Given the description of an element on the screen output the (x, y) to click on. 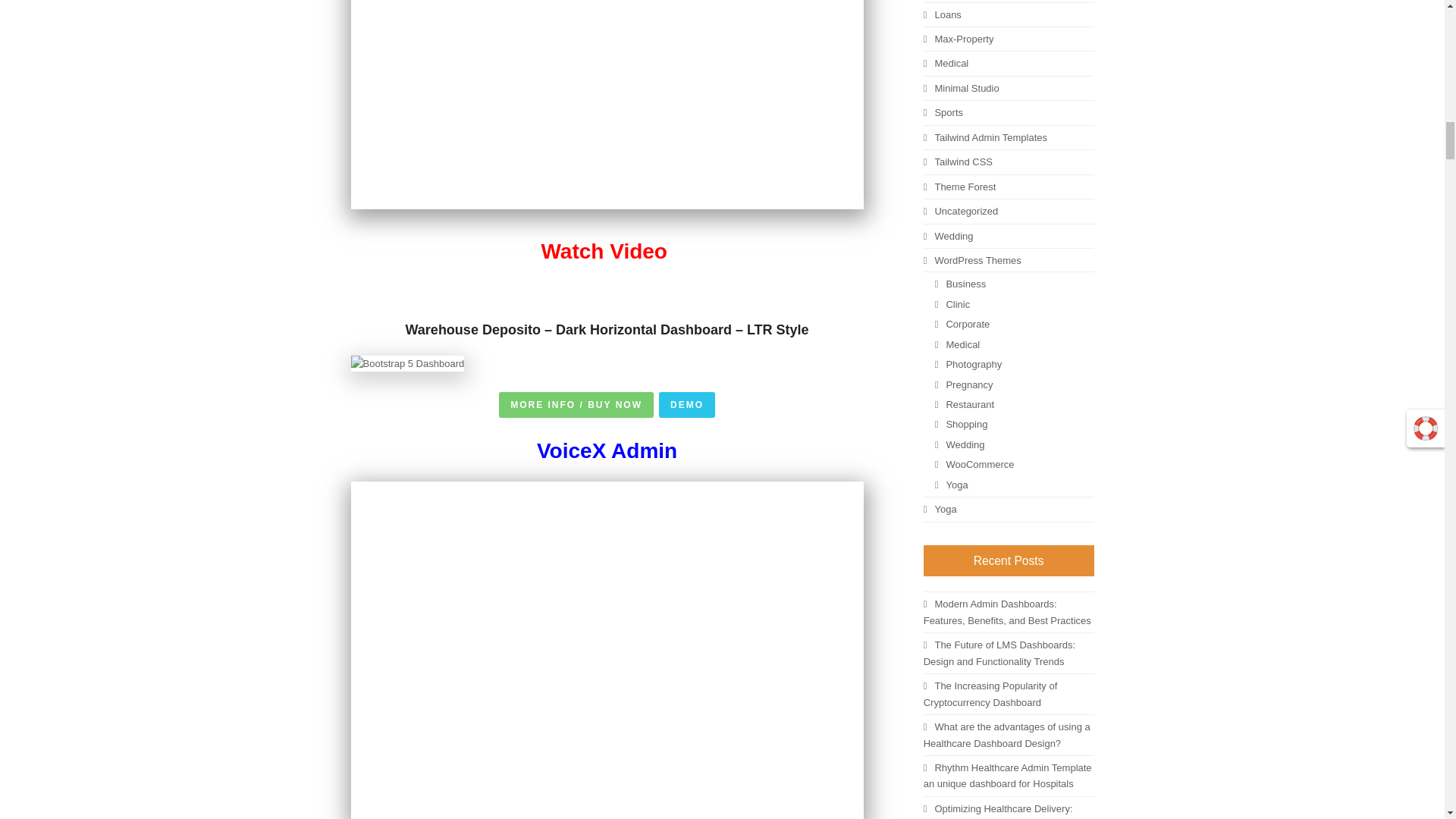
YouTube video player (606, 104)
DEMO (686, 404)
